Given the description of an element on the screen output the (x, y) to click on. 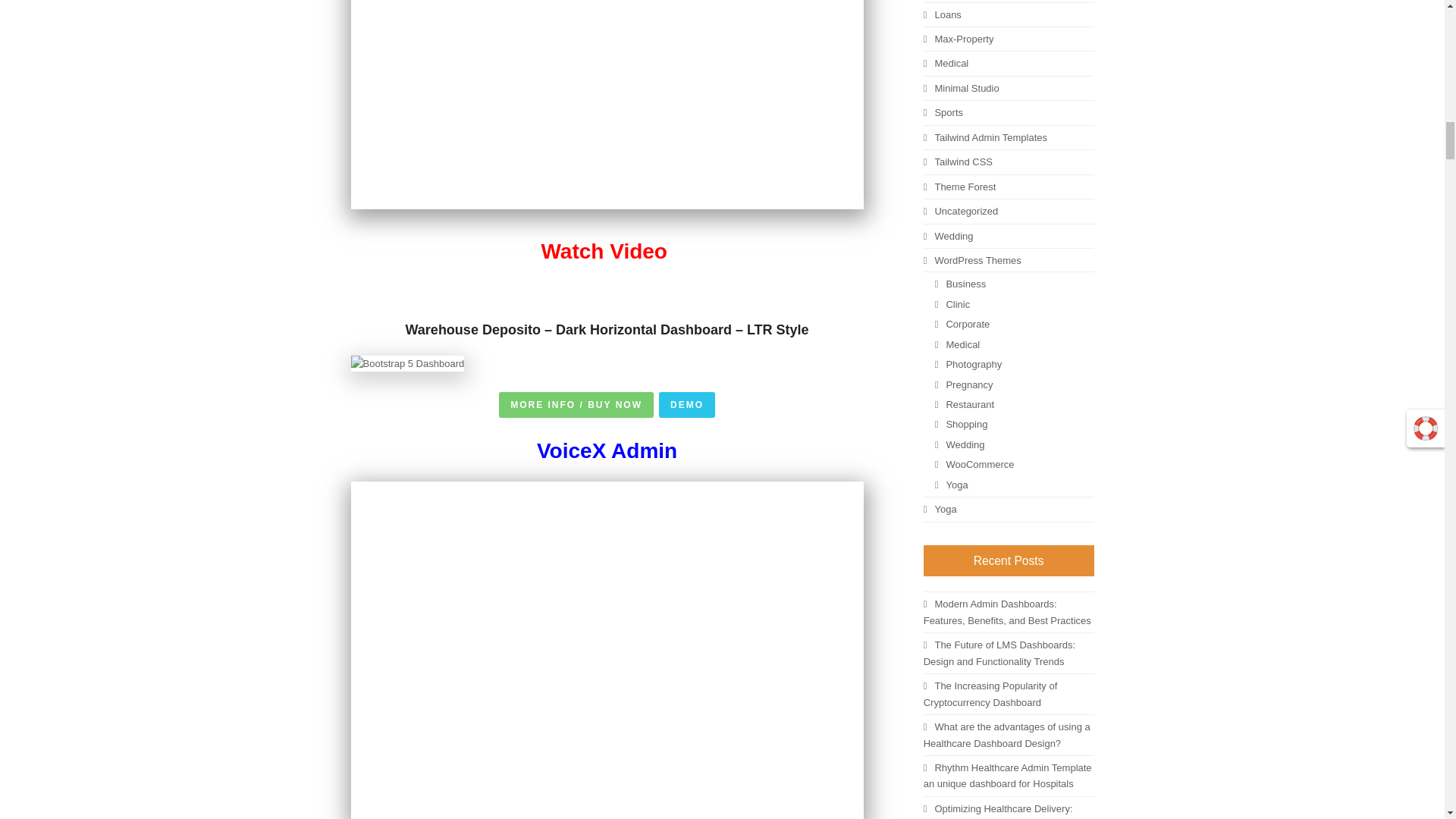
YouTube video player (606, 104)
DEMO (686, 404)
